Given the description of an element on the screen output the (x, y) to click on. 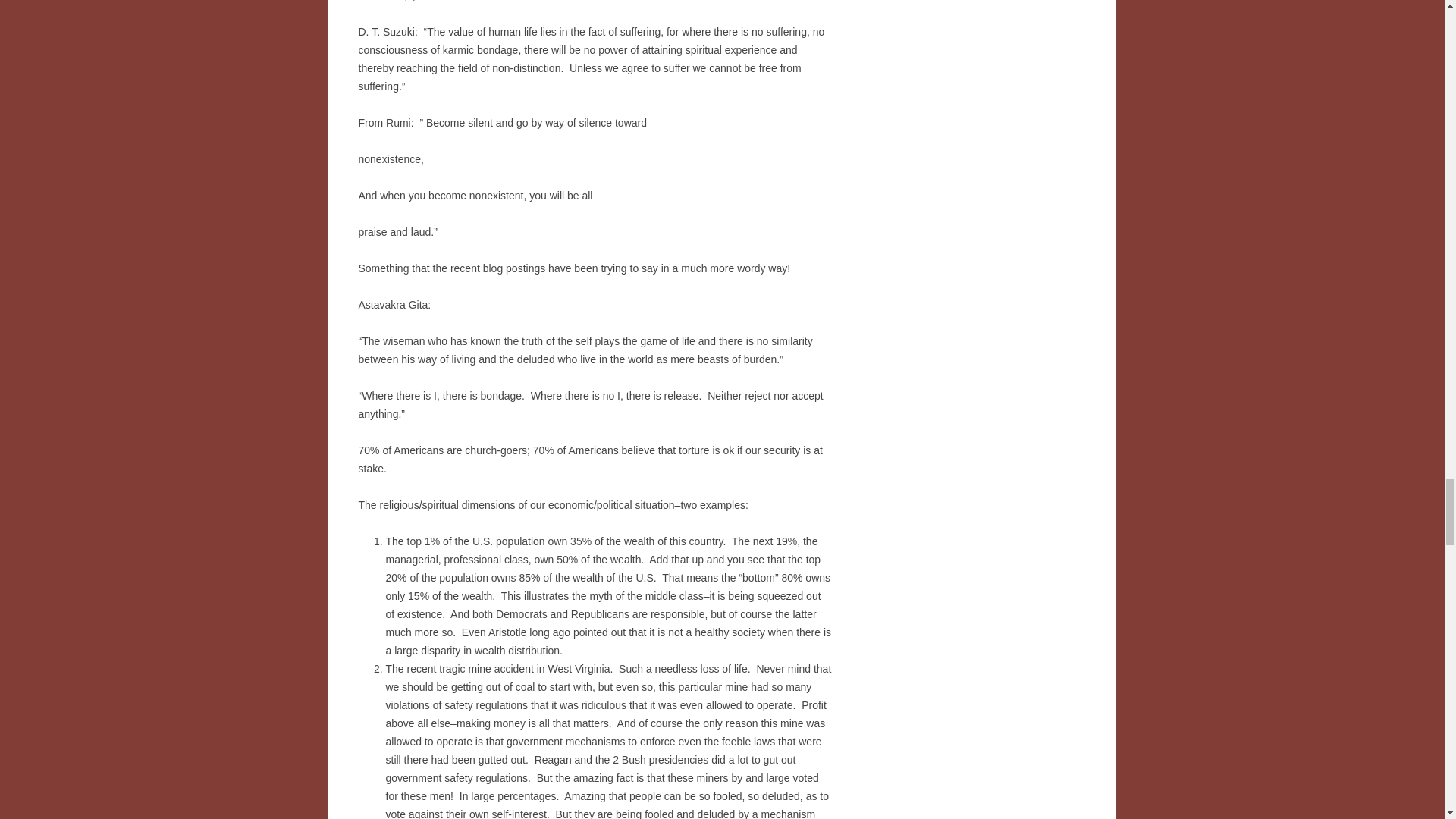
Leave a reply (387, 0)
